Given the description of an element on the screen output the (x, y) to click on. 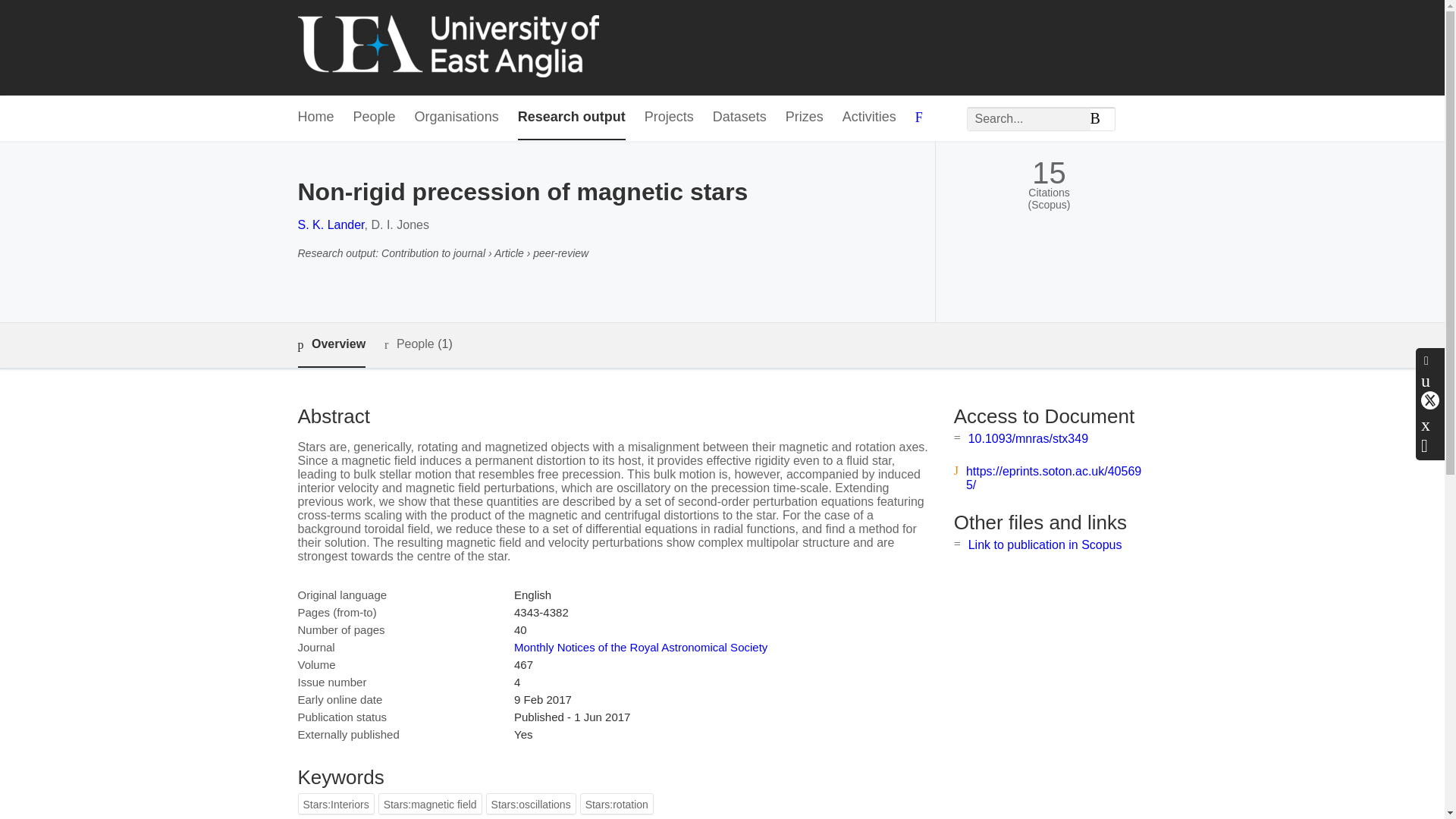
People (374, 117)
Organisations (456, 117)
Link to publication in Scopus (1045, 544)
Monthly Notices of the Royal Astronomical Society (640, 646)
Research output (572, 117)
Projects (669, 117)
Overview (331, 344)
University of East Anglia Home (447, 47)
Datasets (740, 117)
Activities (869, 117)
S. K. Lander (330, 224)
